Given the description of an element on the screen output the (x, y) to click on. 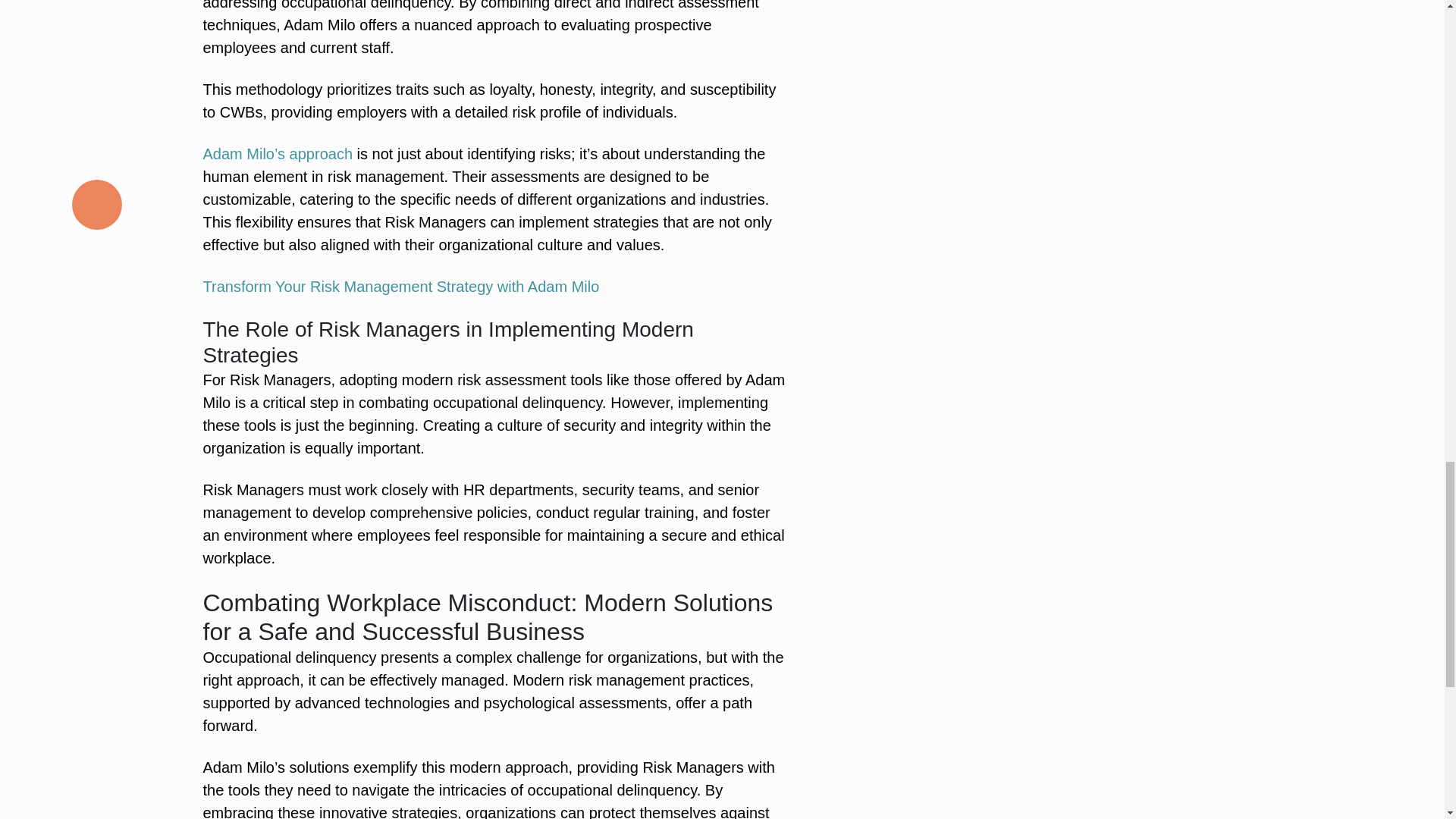
Transform Your Risk Management Strategy with Adam Milo (401, 286)
